Given the description of an element on the screen output the (x, y) to click on. 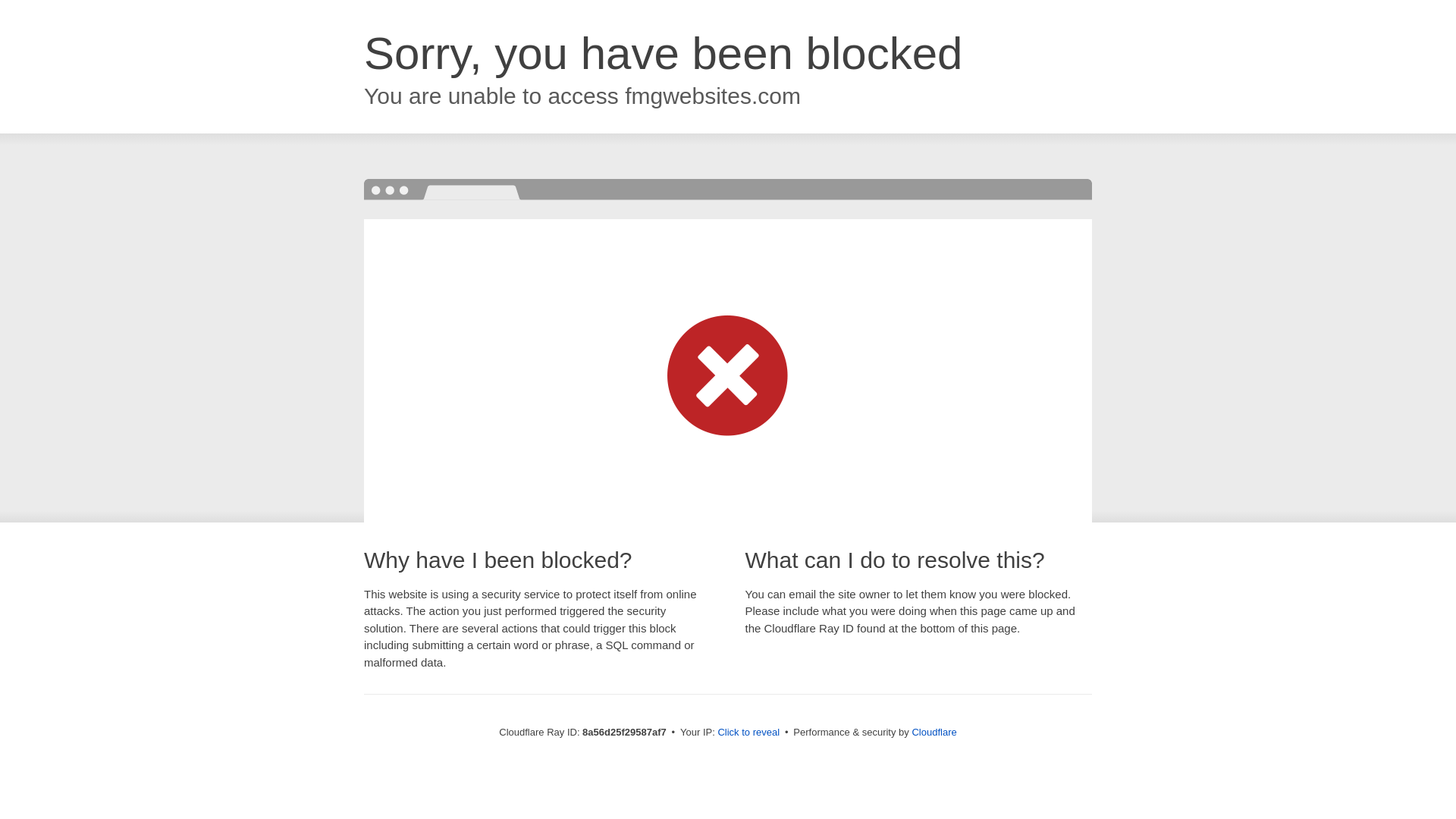
Click to reveal (747, 732)
Cloudflare (933, 731)
